Given the description of an element on the screen output the (x, y) to click on. 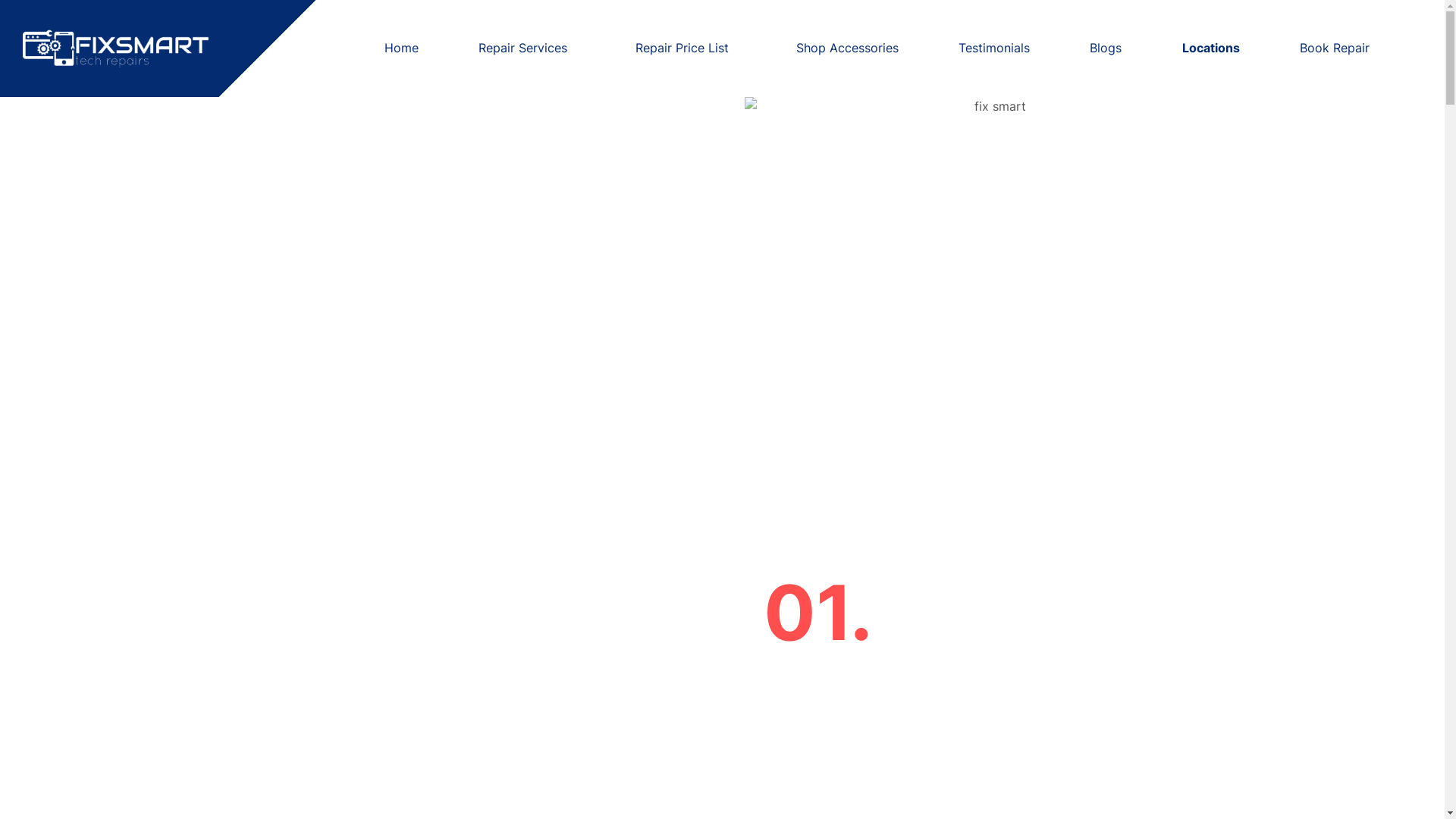
Testimonials Element type: text (993, 47)
Shop Accessories Element type: text (847, 47)
Repair Price List Element type: text (685, 47)
Repair Services Element type: text (526, 47)
Locations Element type: text (1209, 47)
Home Element type: text (401, 47)
Book Repair Element type: text (1334, 47)
Blogs Element type: text (1105, 47)
